Given the description of an element on the screen output the (x, y) to click on. 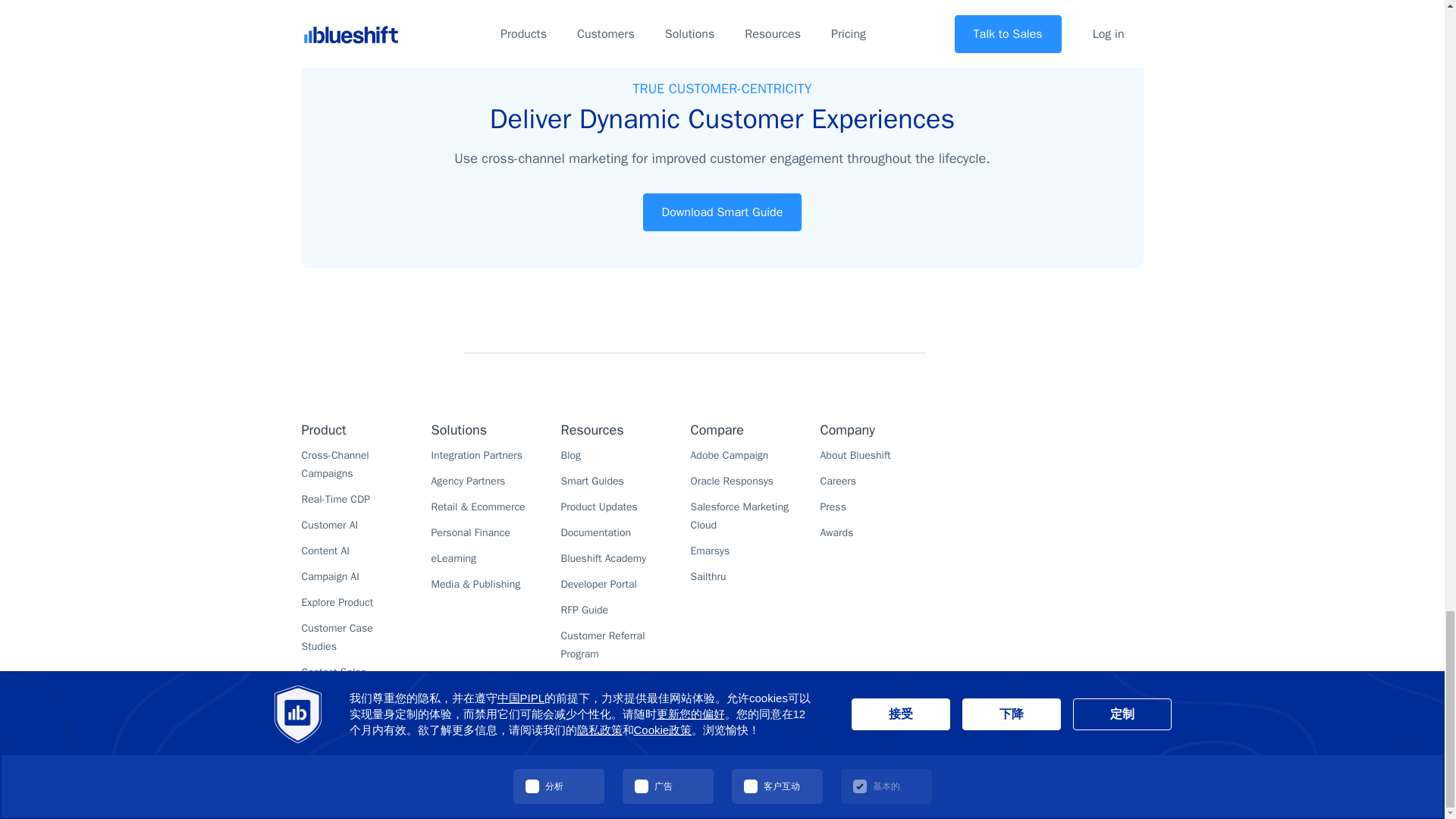
Terms of Use (736, 772)
Anti-Spam Policy (810, 772)
Privacy Policy (667, 772)
Read reviews of Blueshift on G2 (1066, 458)
Modern Slavery Statement (913, 772)
